Given the description of an element on the screen output the (x, y) to click on. 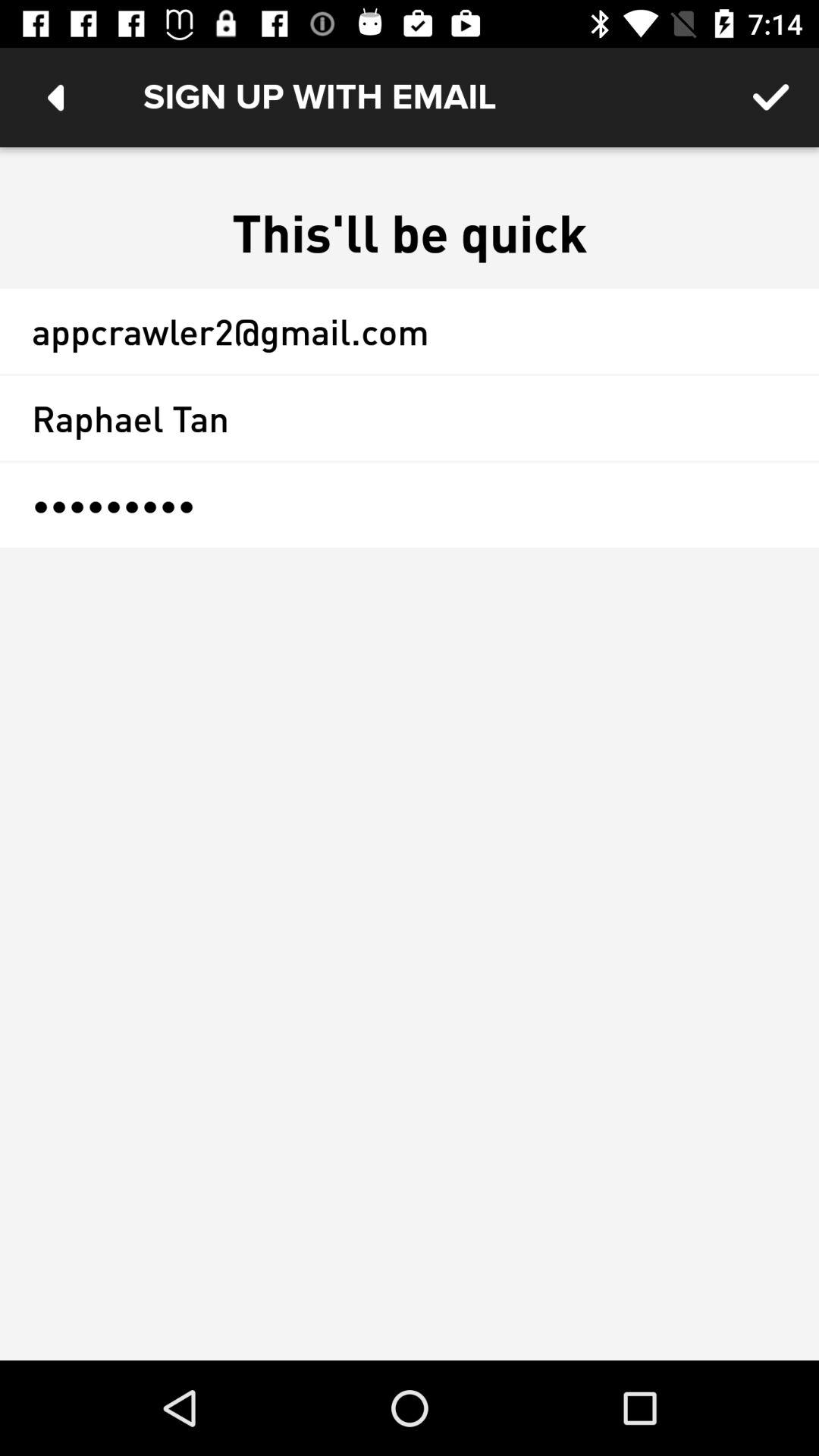
select the item at the top right corner (771, 97)
